Given the description of an element on the screen output the (x, y) to click on. 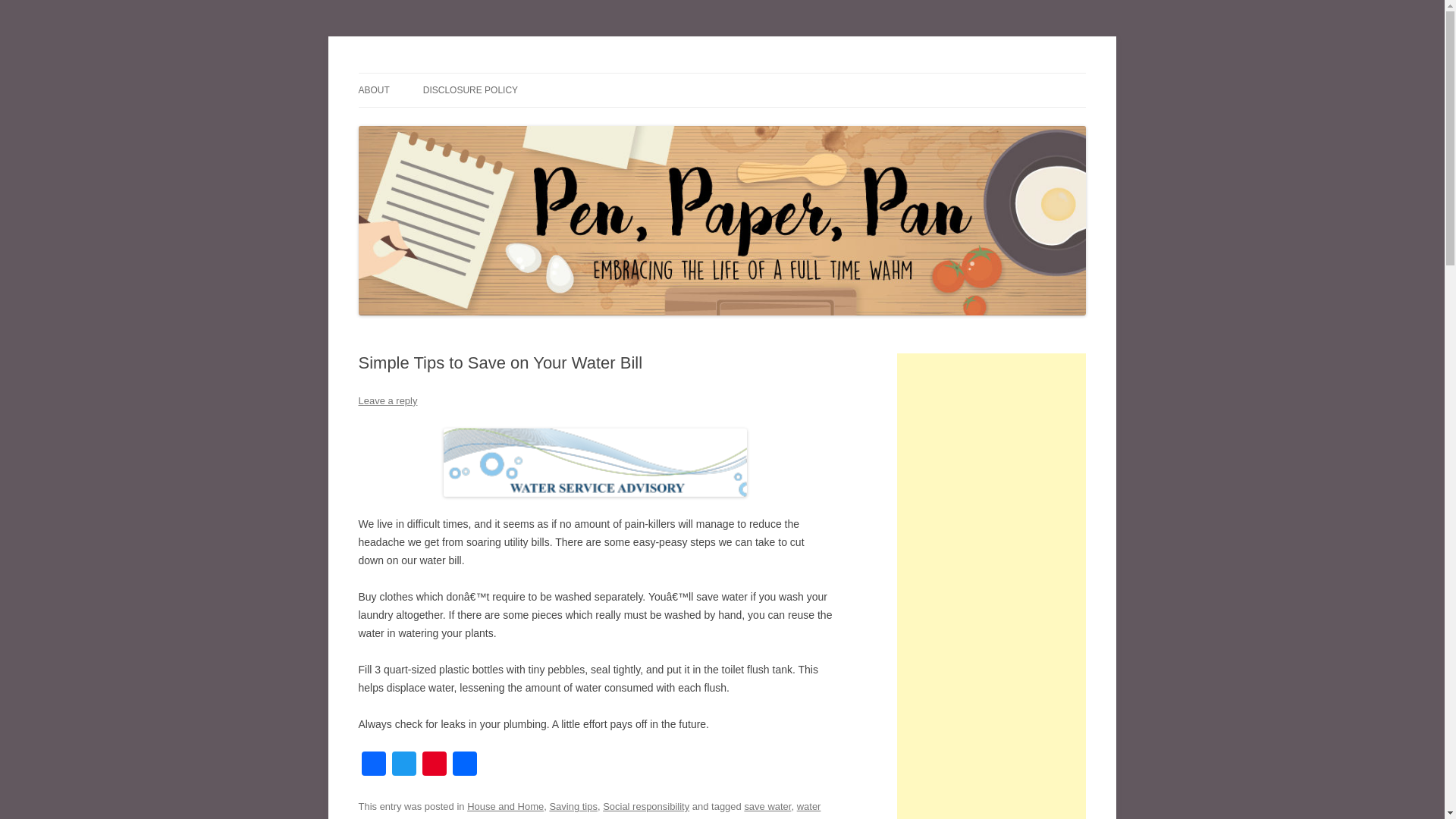
Leave a reply (387, 400)
Pen, Paper, Pan (431, 72)
water saving tips (589, 809)
Social responsibility (645, 806)
Pinterest (433, 765)
Facebook (373, 765)
House and Home (505, 806)
Facebook (373, 765)
ABOUT (373, 90)
Share (463, 765)
save water (767, 806)
DISCLOSURE POLICY (470, 90)
Twitter (403, 765)
Saving tips (572, 806)
